Given the description of an element on the screen output the (x, y) to click on. 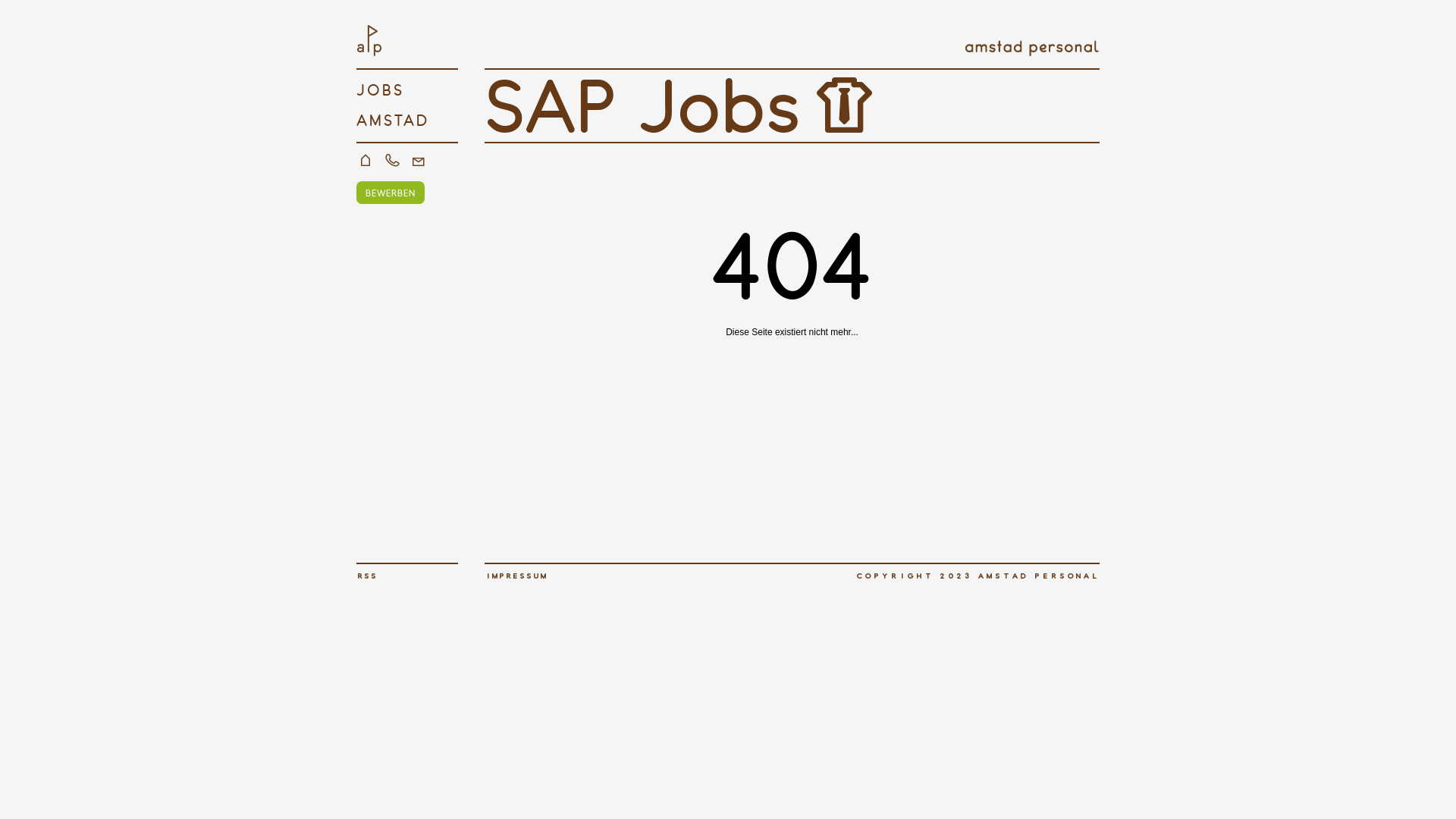
amstad@amstad-personal.ch Element type: hover (418, 161)
BEWERBEN Element type: text (390, 192)
Kontakt Element type: hover (365, 161)
JOBS Element type: text (407, 84)
AMSTAD Element type: text (407, 115)
044 / 432 00 01 Element type: hover (391, 161)
impressum Element type: text (515, 575)
rss Element type: text (366, 575)
